Given the description of an element on the screen output the (x, y) to click on. 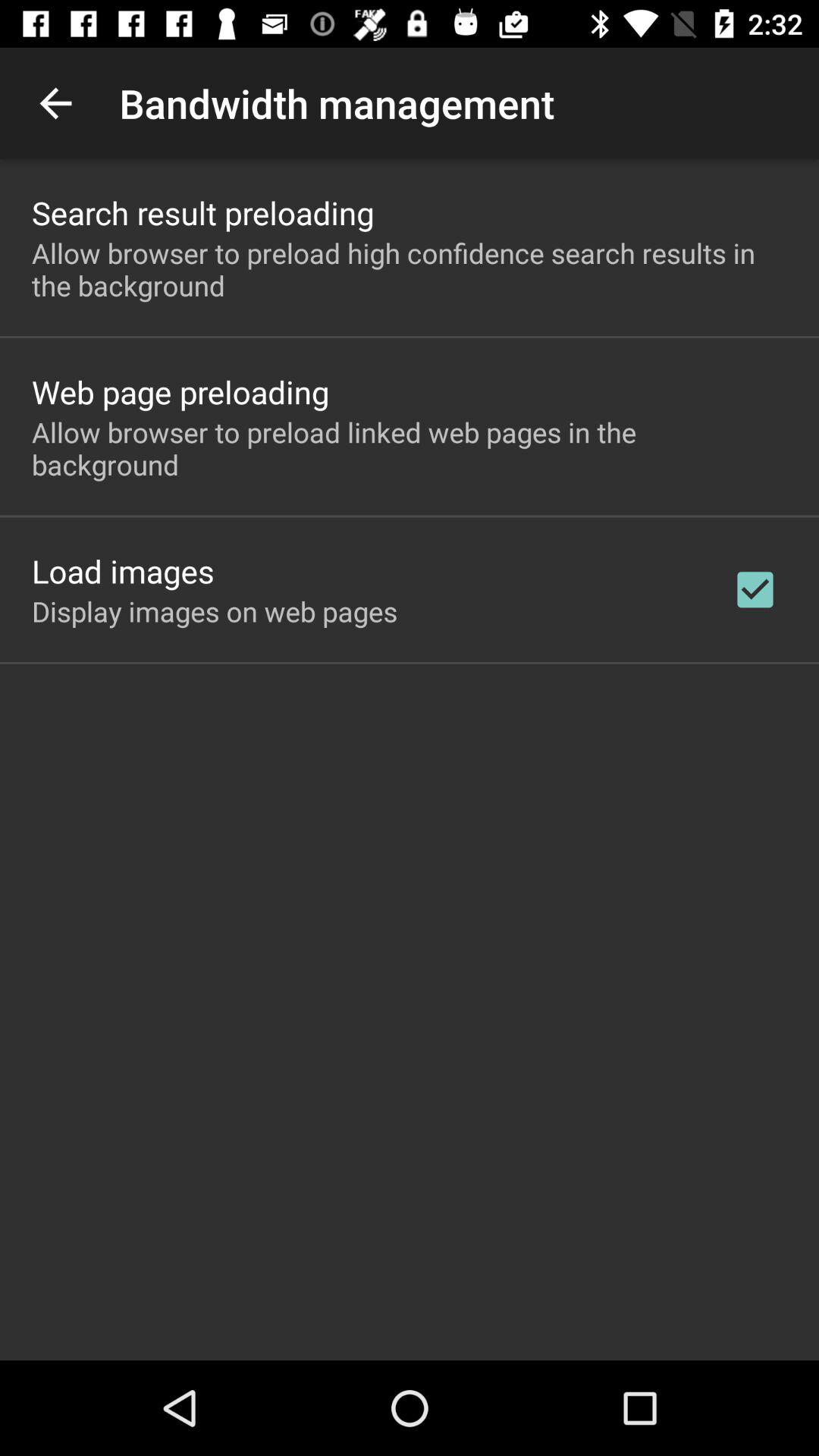
open app next to bandwidth management item (55, 103)
